Given the description of an element on the screen output the (x, y) to click on. 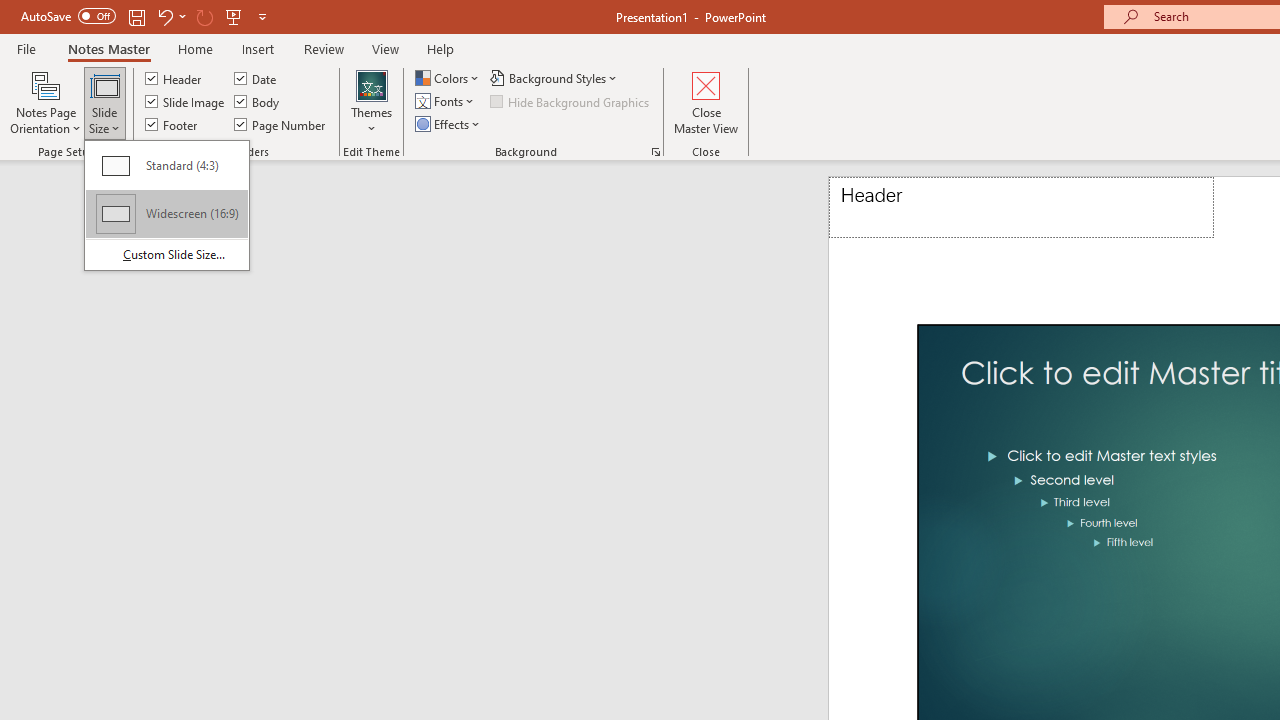
Effects (449, 124)
Slide Size (104, 102)
Date (256, 78)
Slide Image (186, 101)
Fonts (446, 101)
